Given the description of an element on the screen output the (x, y) to click on. 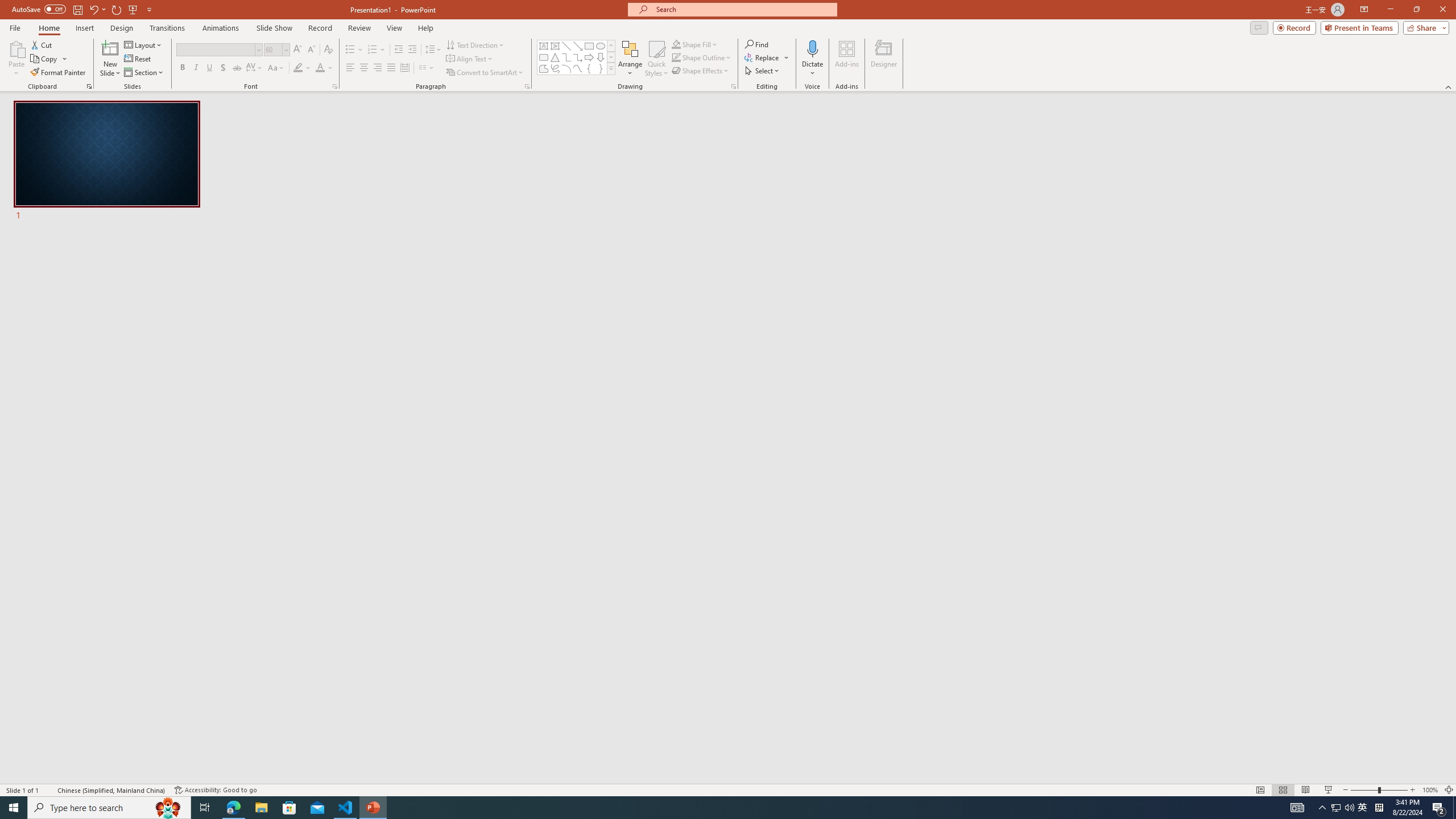
Curve (577, 68)
Dictate (812, 58)
Increase Indent (412, 49)
Shape Outline Blue, Accent 1 (675, 56)
Comments (1259, 27)
Copy (49, 58)
Format Object... (733, 85)
Customize Quick Access Toolbar (149, 9)
Clear Formatting (327, 49)
Class: NetUIImage (610, 68)
Text Highlight Color (302, 67)
Bullets (354, 49)
Font Color Red (320, 67)
Help (425, 28)
